Given the description of an element on the screen output the (x, y) to click on. 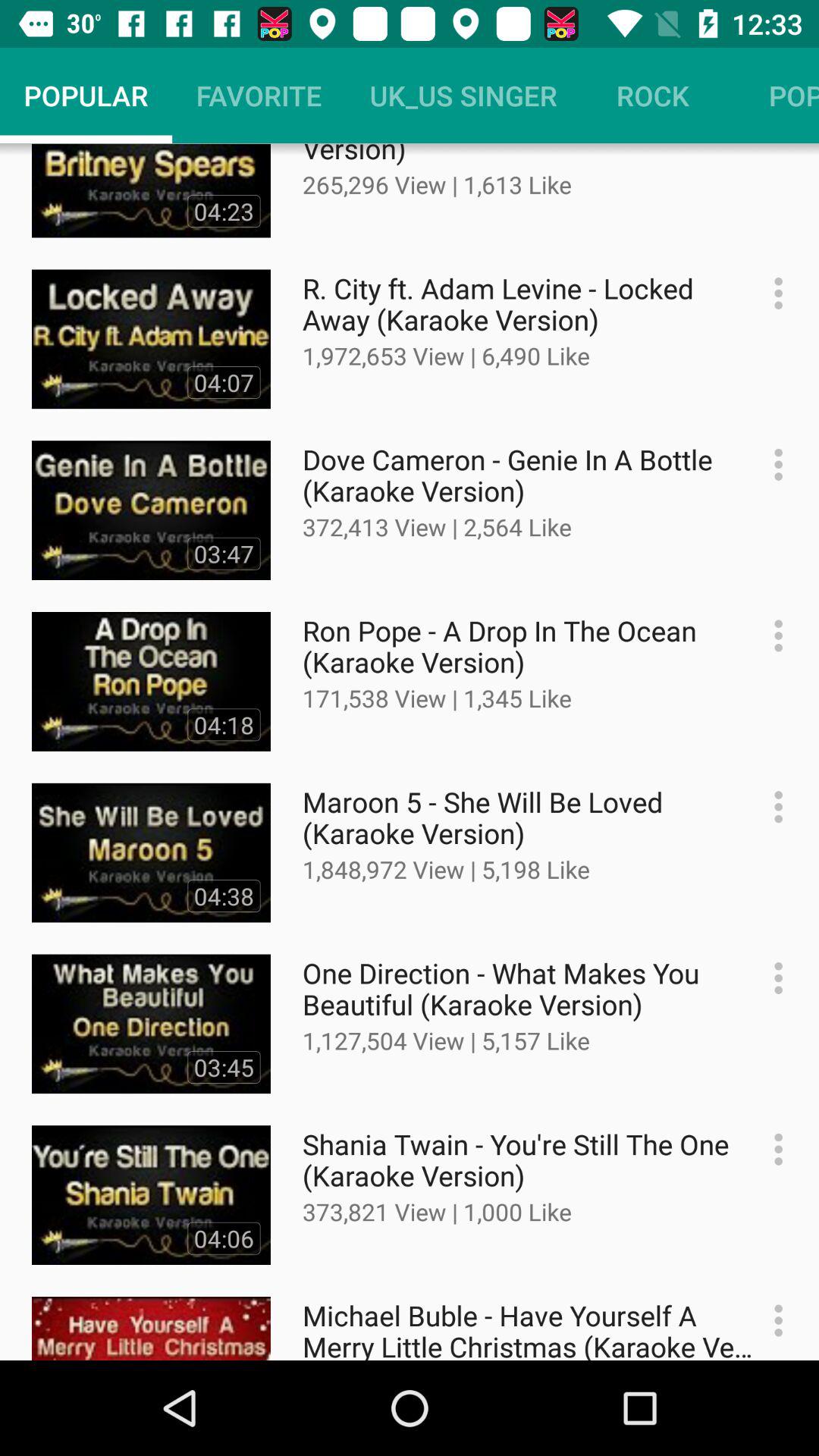
more settings (770, 464)
